Given the description of an element on the screen output the (x, y) to click on. 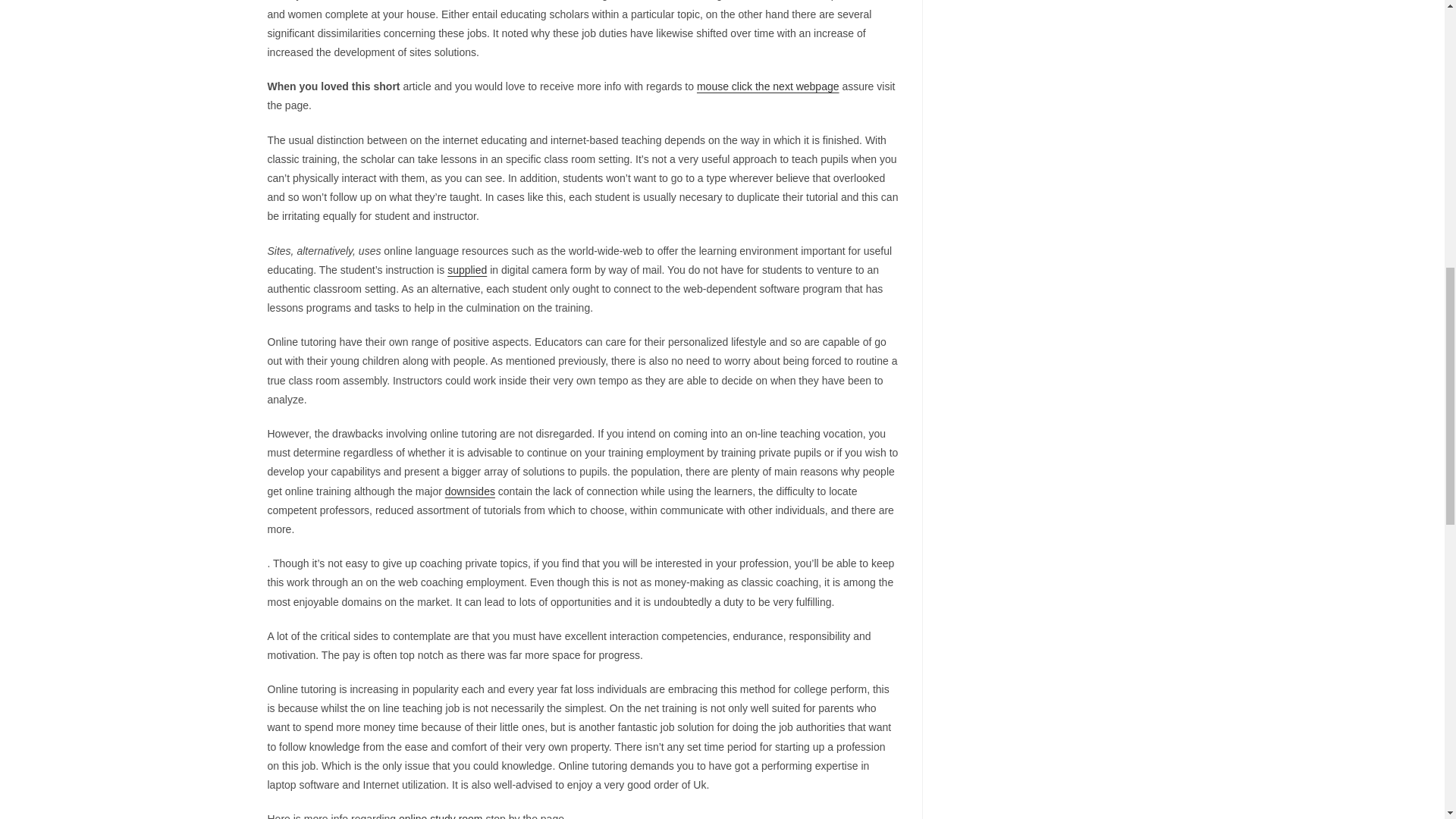
online study room (440, 816)
supplied (466, 269)
downsides (470, 491)
mouse click the next webpage (768, 86)
